Given the description of an element on the screen output the (x, y) to click on. 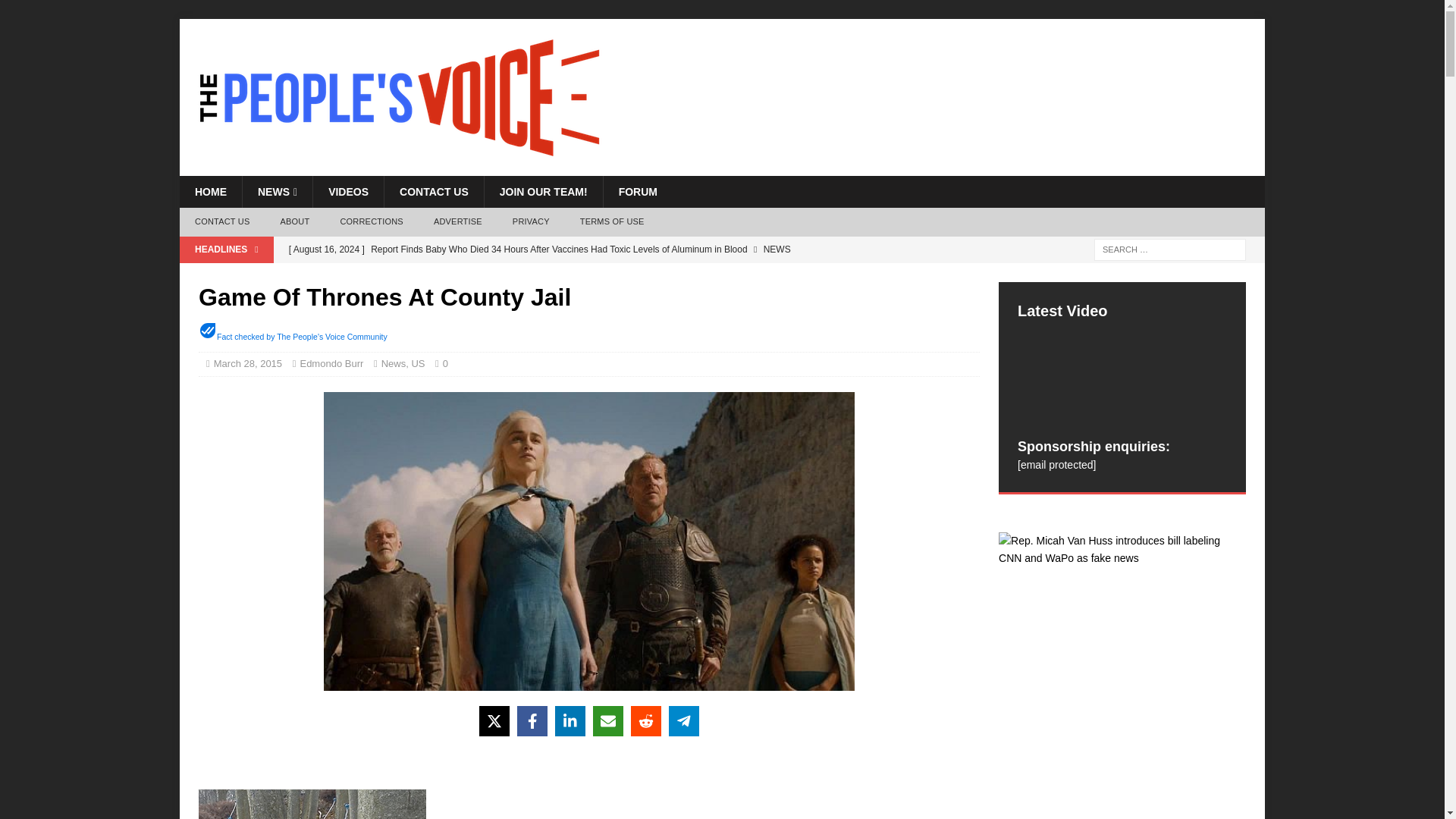
CONTACT US (433, 192)
CONTACT US (221, 222)
ABOUT (294, 222)
HOME (210, 192)
VIDEOS (348, 192)
CORRECTIONS (370, 222)
NEWS (277, 192)
FORUM (637, 192)
Fact checked by The People's Voice Community (301, 336)
March 28, 2015 (248, 363)
